Given the description of an element on the screen output the (x, y) to click on. 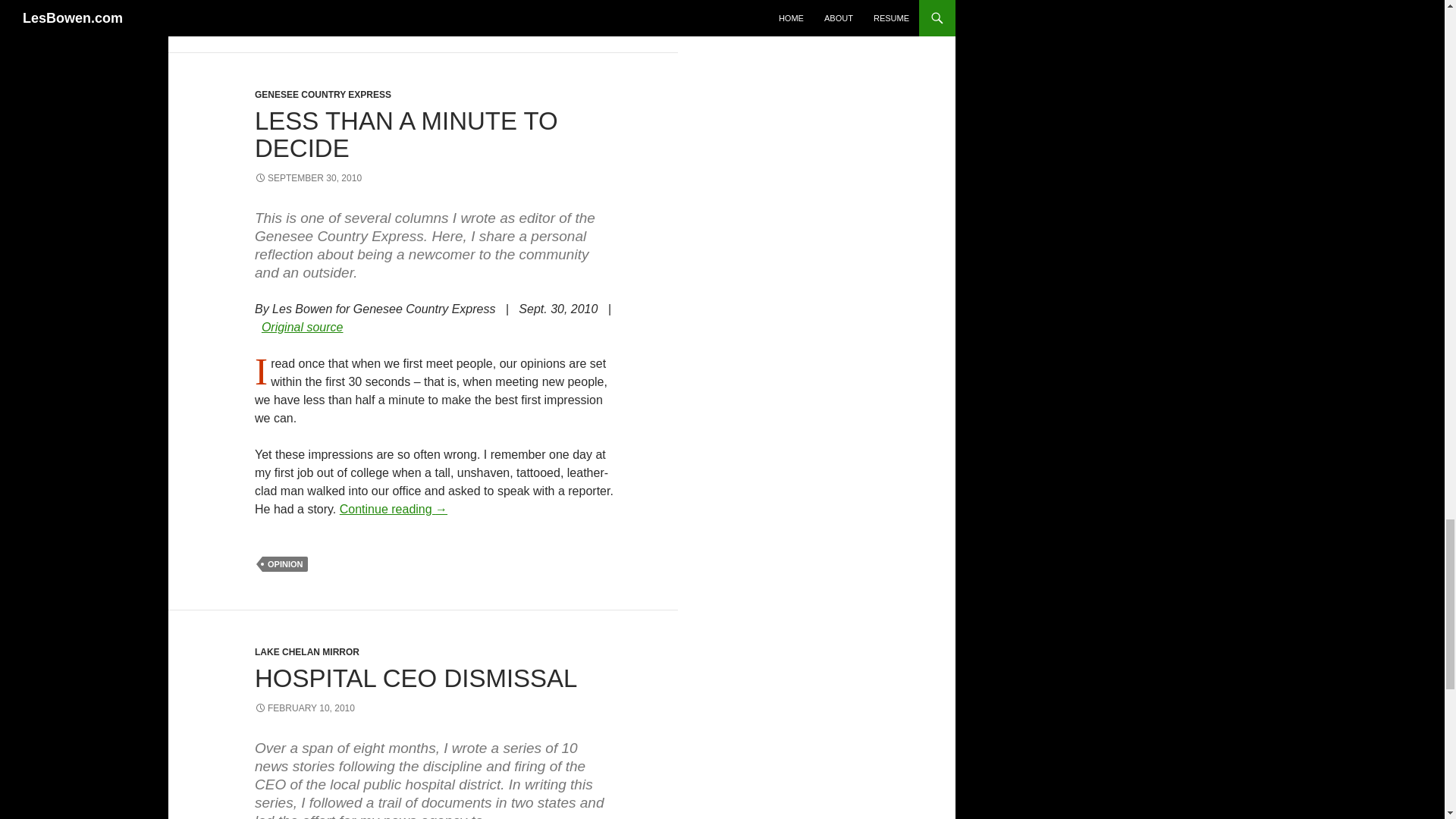
Original source (302, 327)
GENESEE COUNTRY EXPRESS (322, 94)
OPINION (284, 563)
OPINION (284, 7)
LESS THAN A MINUTE TO DECIDE (405, 134)
SEPTEMBER 30, 2010 (307, 177)
